Given the description of an element on the screen output the (x, y) to click on. 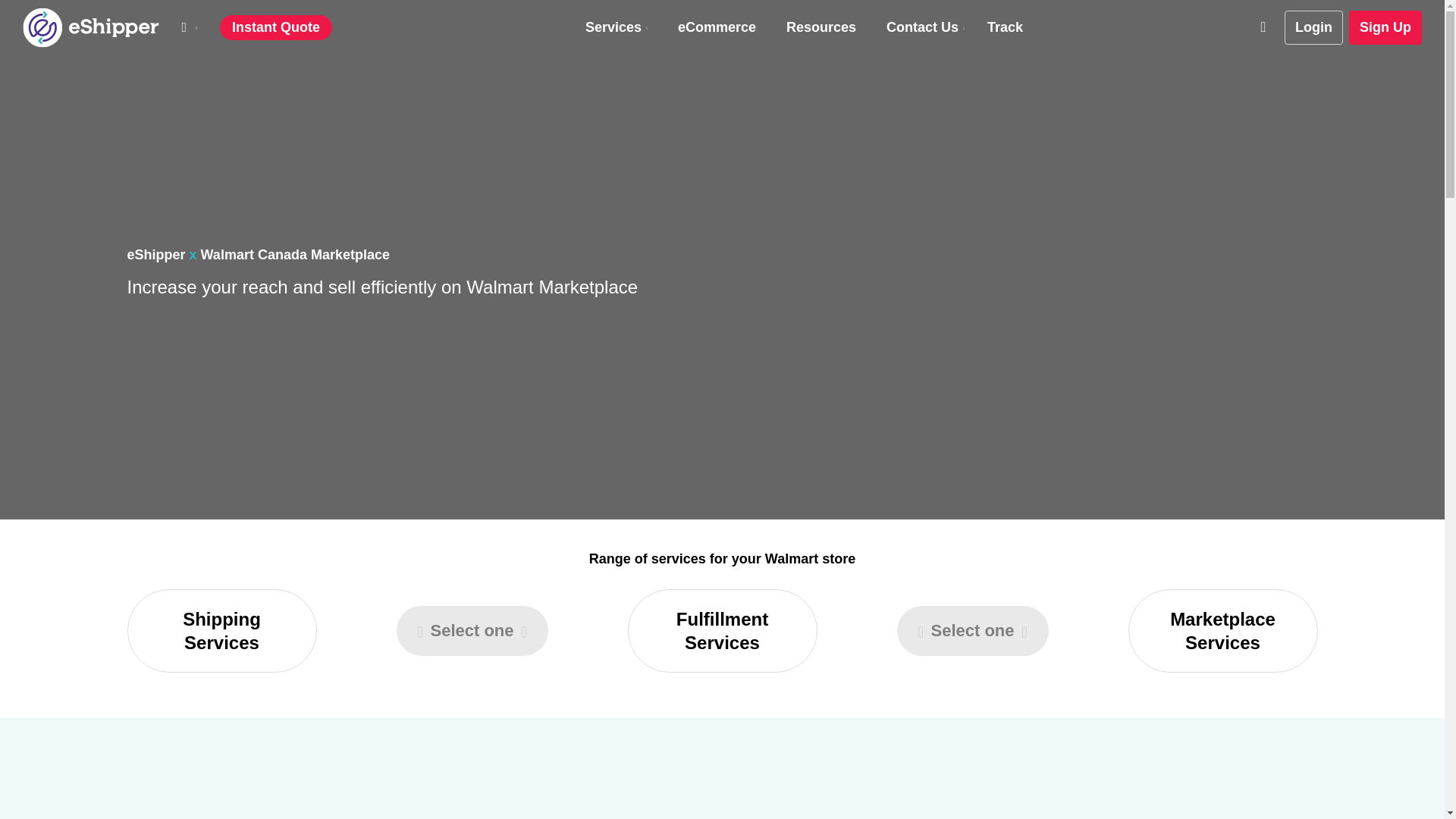
Contact Us (924, 27)
Resources (821, 27)
eCommerce (716, 27)
Services (616, 27)
Start search (709, 5)
Track (1005, 27)
Instant Quote (275, 27)
Login (1313, 27)
